Given the description of an element on the screen output the (x, y) to click on. 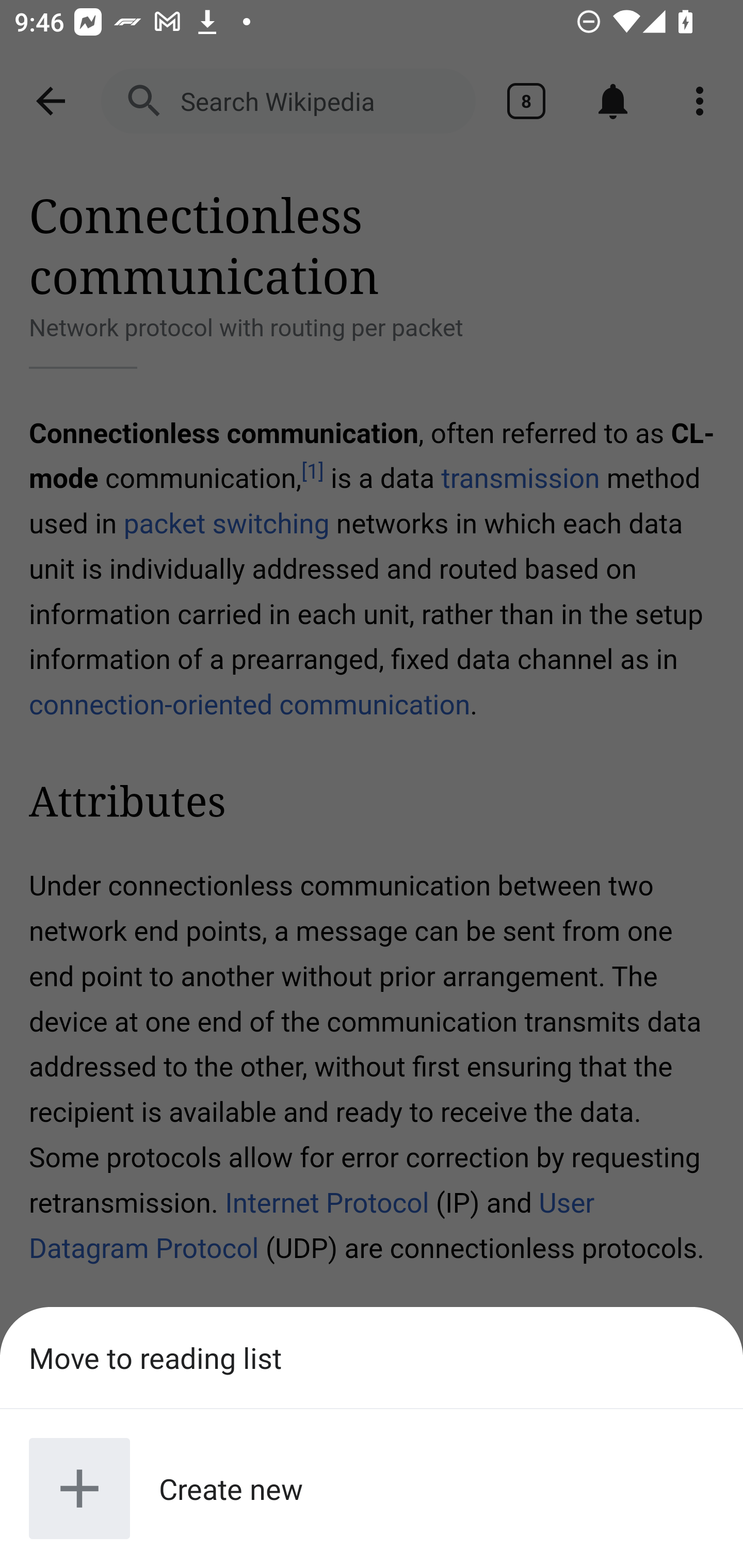
Create new (371, 1488)
